Given the description of an element on the screen output the (x, y) to click on. 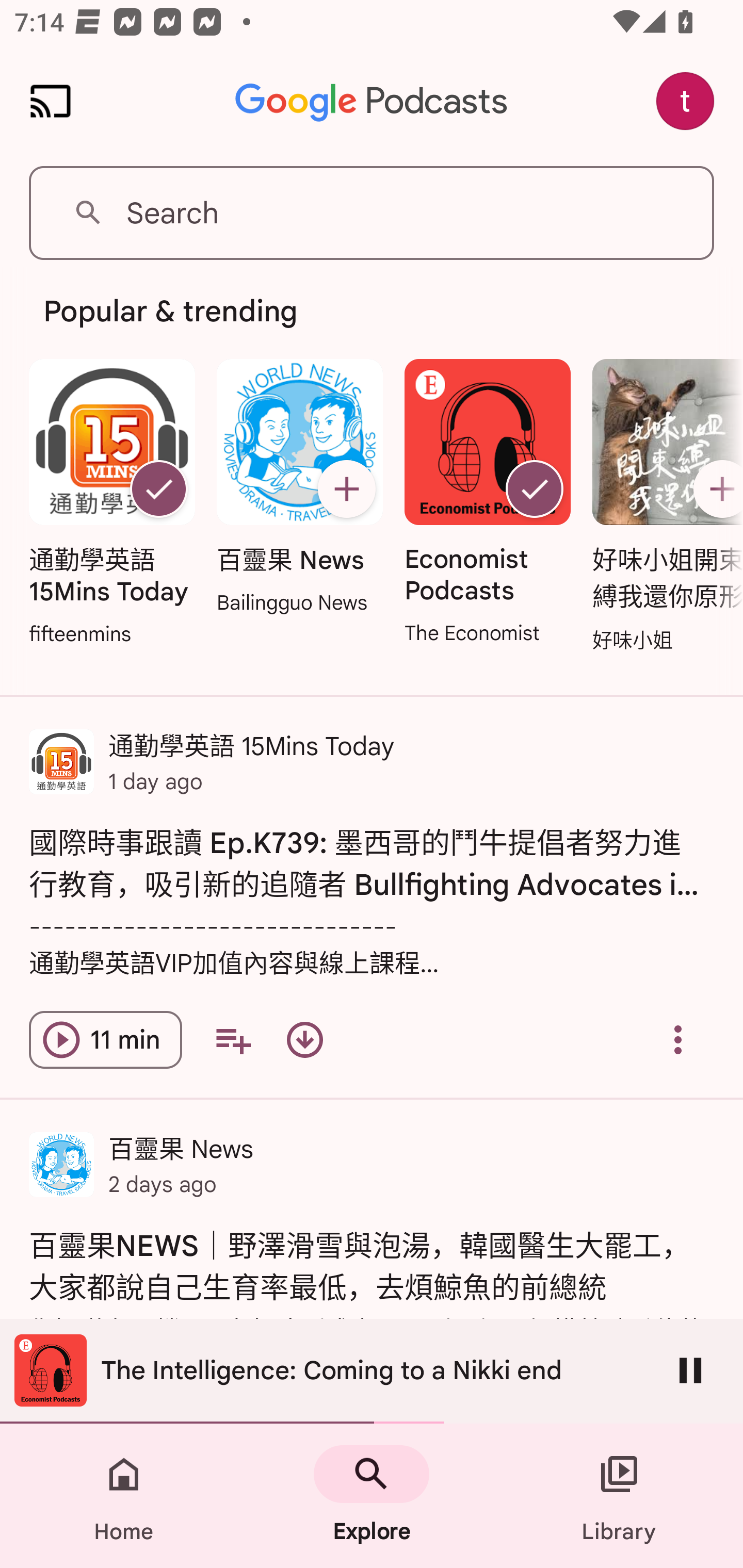
Cast. Disconnected (50, 101)
Search (371, 212)
百靈果 News Subscribe 百靈果 News Bailingguo News (299, 488)
好味小姐開束縛我還你原形 Subscribe 好味小姐開束縛我還你原形 好味小姐 (662, 507)
Unsubscribe (158, 489)
Subscribe (346, 489)
Unsubscribe (534, 489)
Subscribe (714, 489)
Add to your queue (232, 1040)
Download episode (304, 1040)
Overflow menu (677, 1040)
Pause (690, 1370)
Home (123, 1495)
Library (619, 1495)
